Given the description of an element on the screen output the (x, y) to click on. 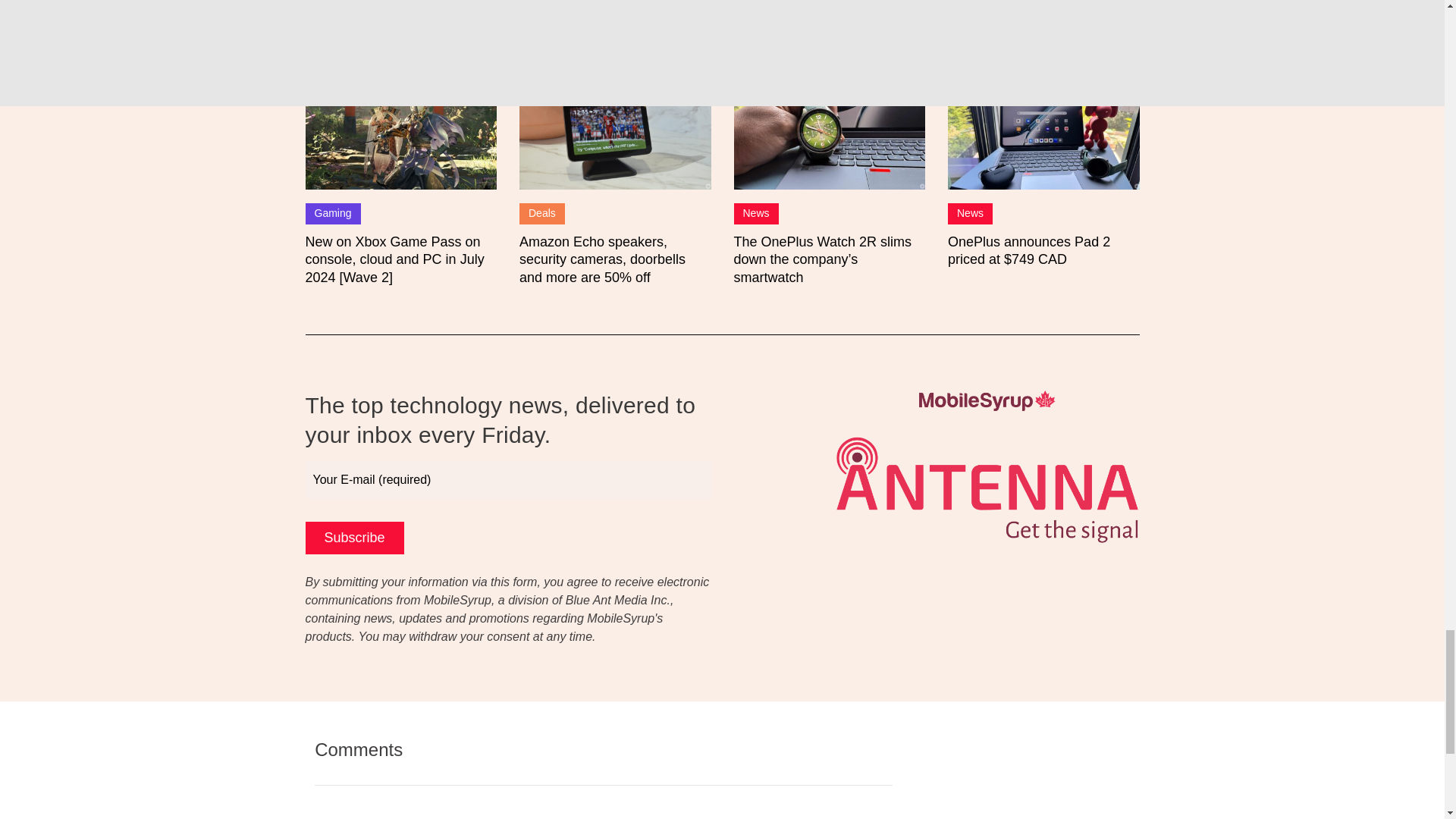
Subscribe (353, 538)
